Given the description of an element on the screen output the (x, y) to click on. 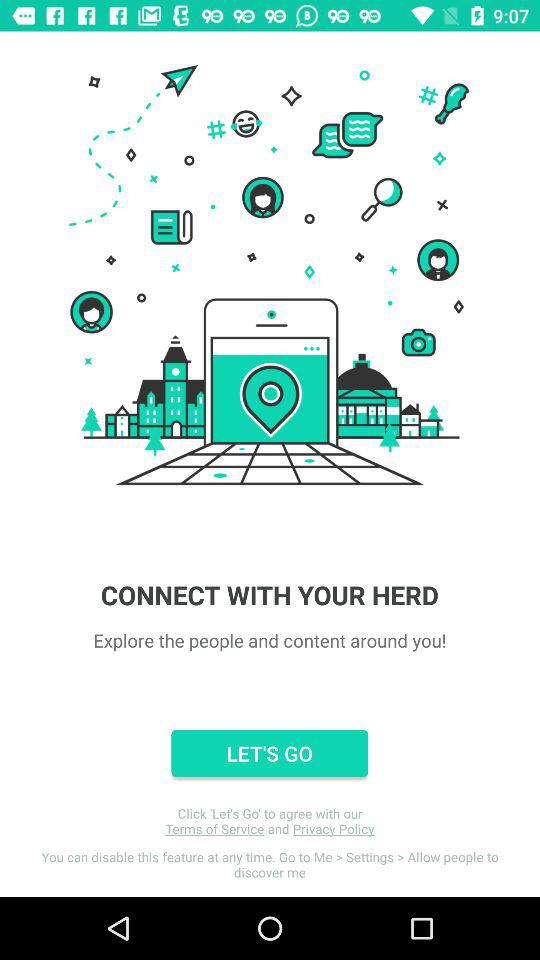
open item below the let's go item (269, 821)
